Given the description of an element on the screen output the (x, y) to click on. 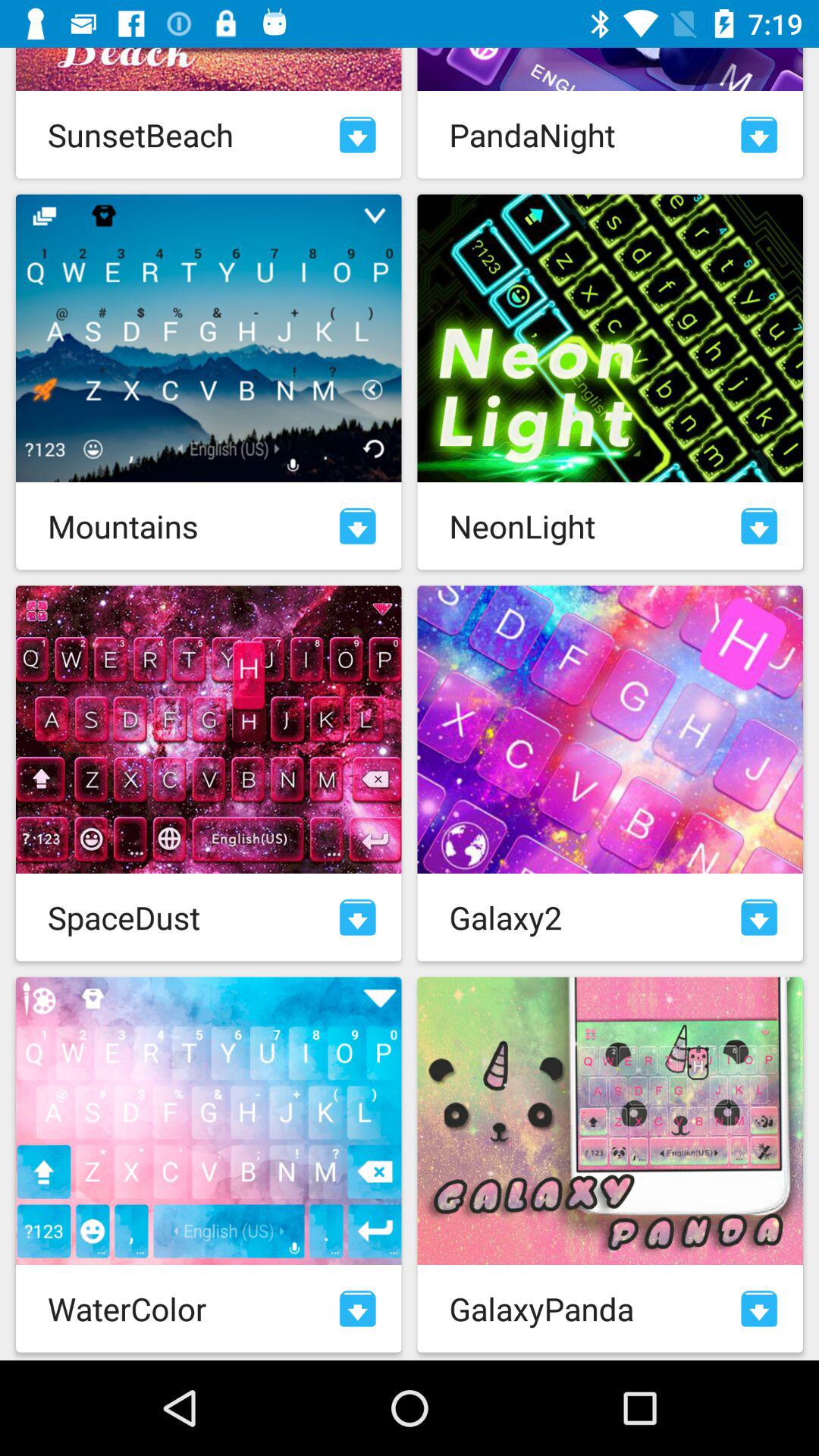
download (357, 917)
